Given the description of an element on the screen output the (x, y) to click on. 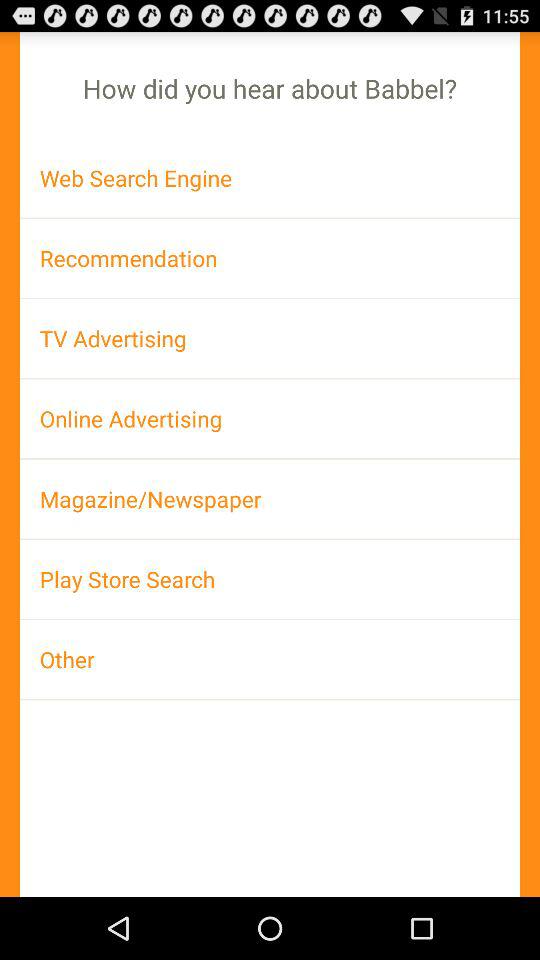
open the app above other item (269, 579)
